Given the description of an element on the screen output the (x, y) to click on. 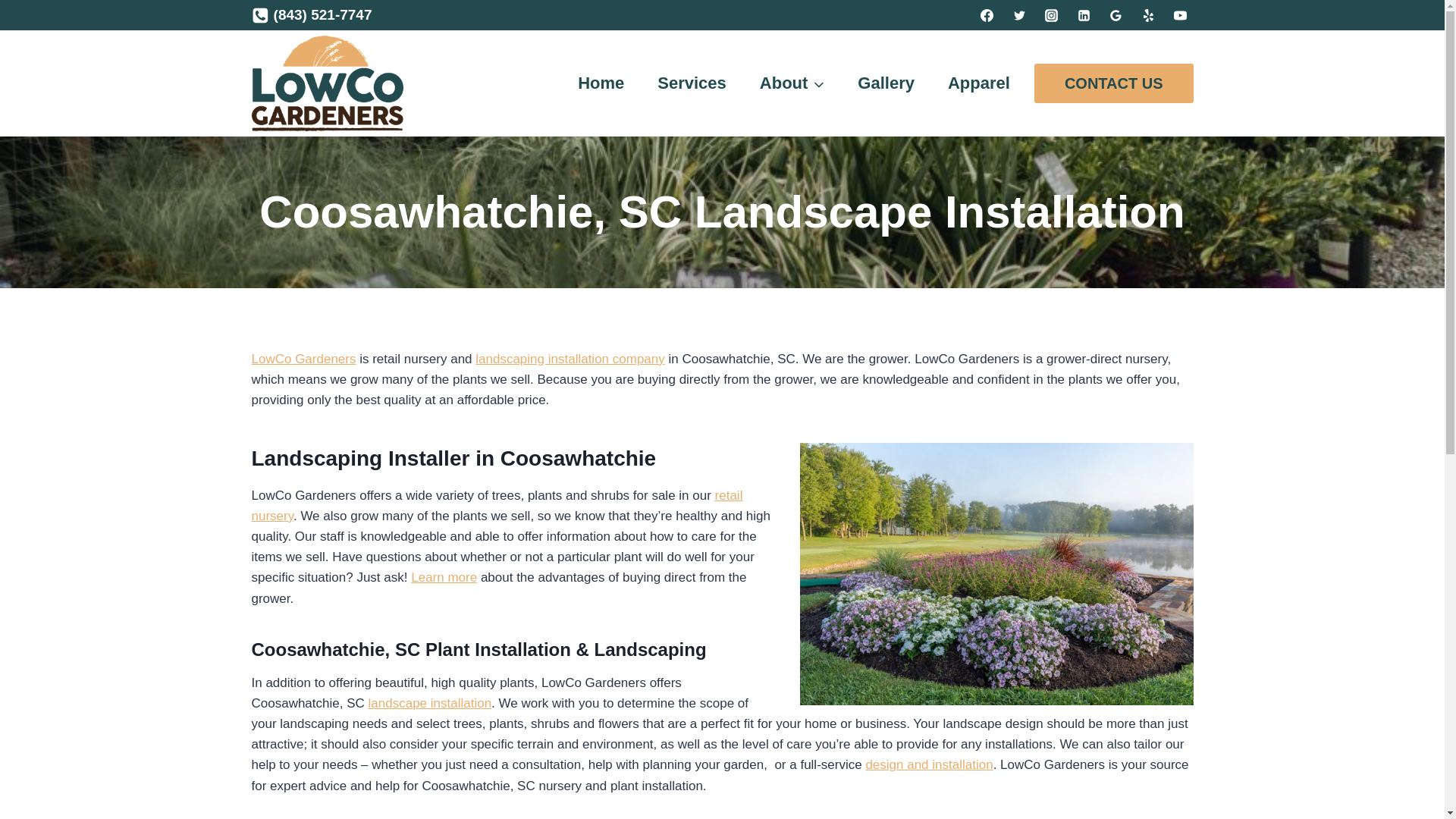
retail nursery (496, 505)
Learn more (443, 577)
CONTACT US (1113, 83)
landscaping installation company (570, 359)
Apparel (978, 83)
LowCo Gardeners (303, 359)
Home (600, 83)
Gallery (886, 83)
landscape installation (430, 703)
Coosawhatchie, SC Landscape Installation (995, 574)
